Given the description of an element on the screen output the (x, y) to click on. 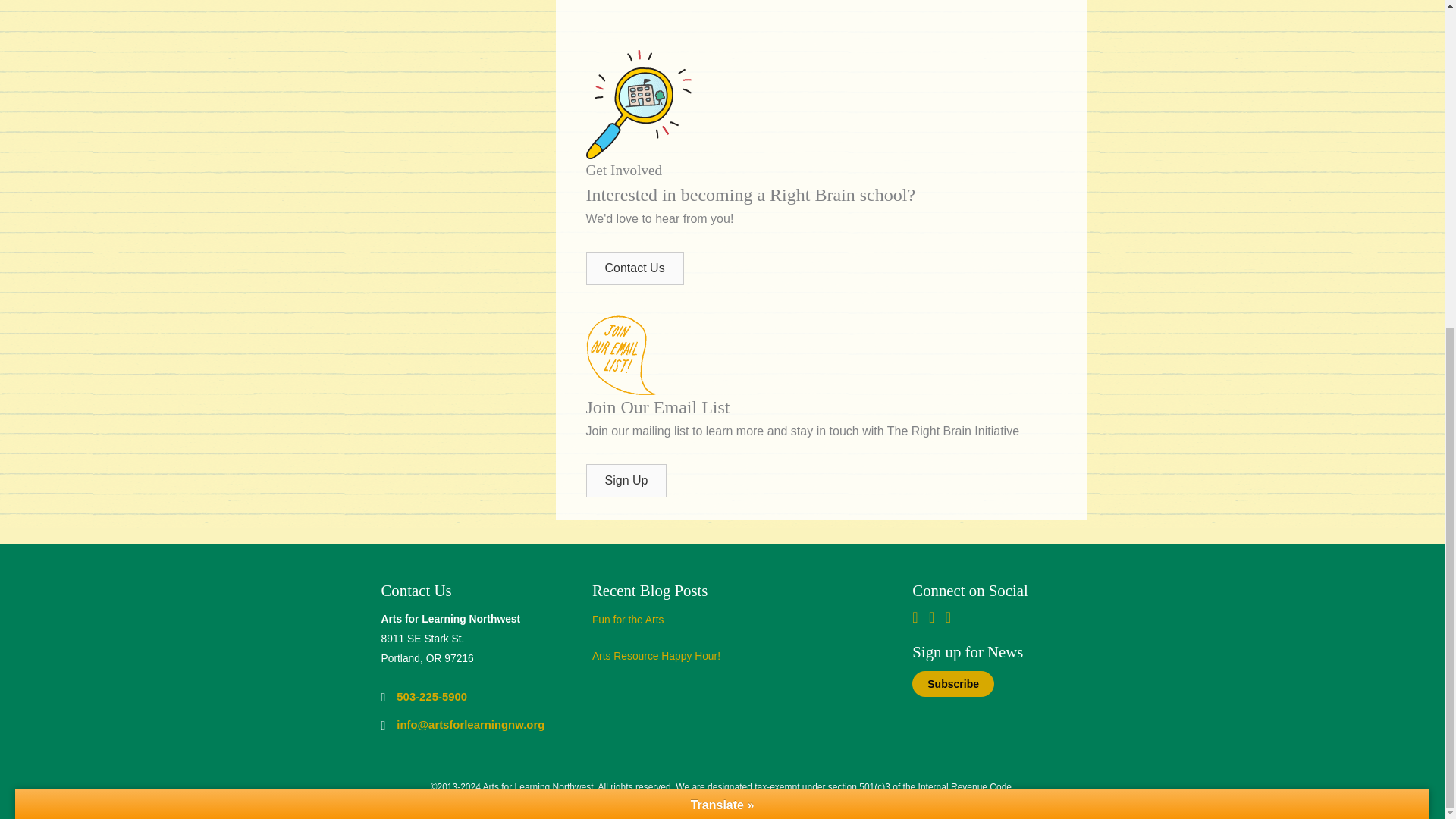
View Box Content (729, 660)
Arts Resource Happy Hour! (656, 655)
Vector-Smart-Object-6-e1464312222929 (637, 103)
Fun for the Arts (627, 619)
Click Here (625, 480)
The Right Brain Effect (823, 17)
Click Here (633, 268)
View Box Content (729, 623)
